Given the description of an element on the screen output the (x, y) to click on. 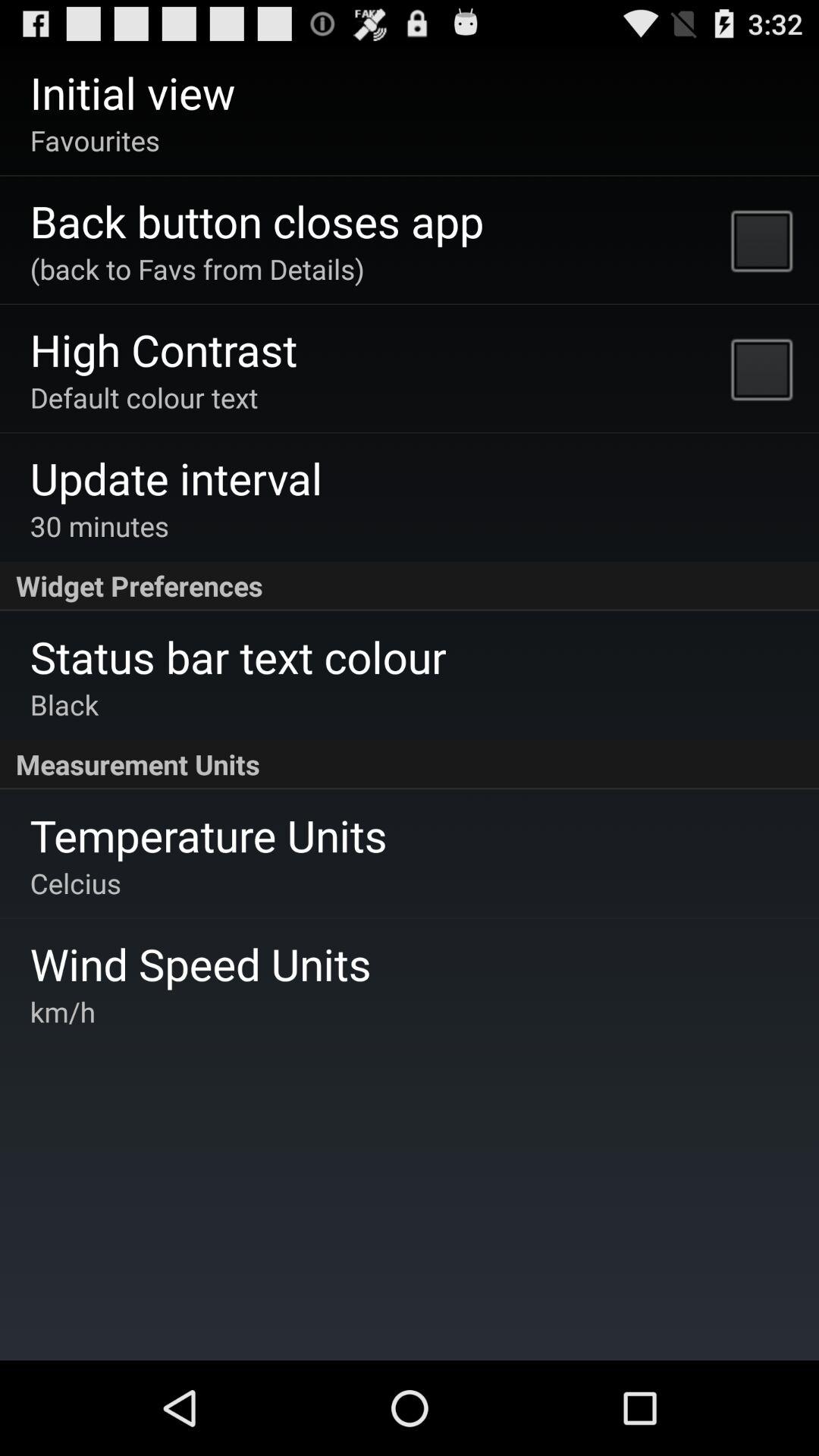
click the high contrast app (163, 349)
